Given the description of an element on the screen output the (x, y) to click on. 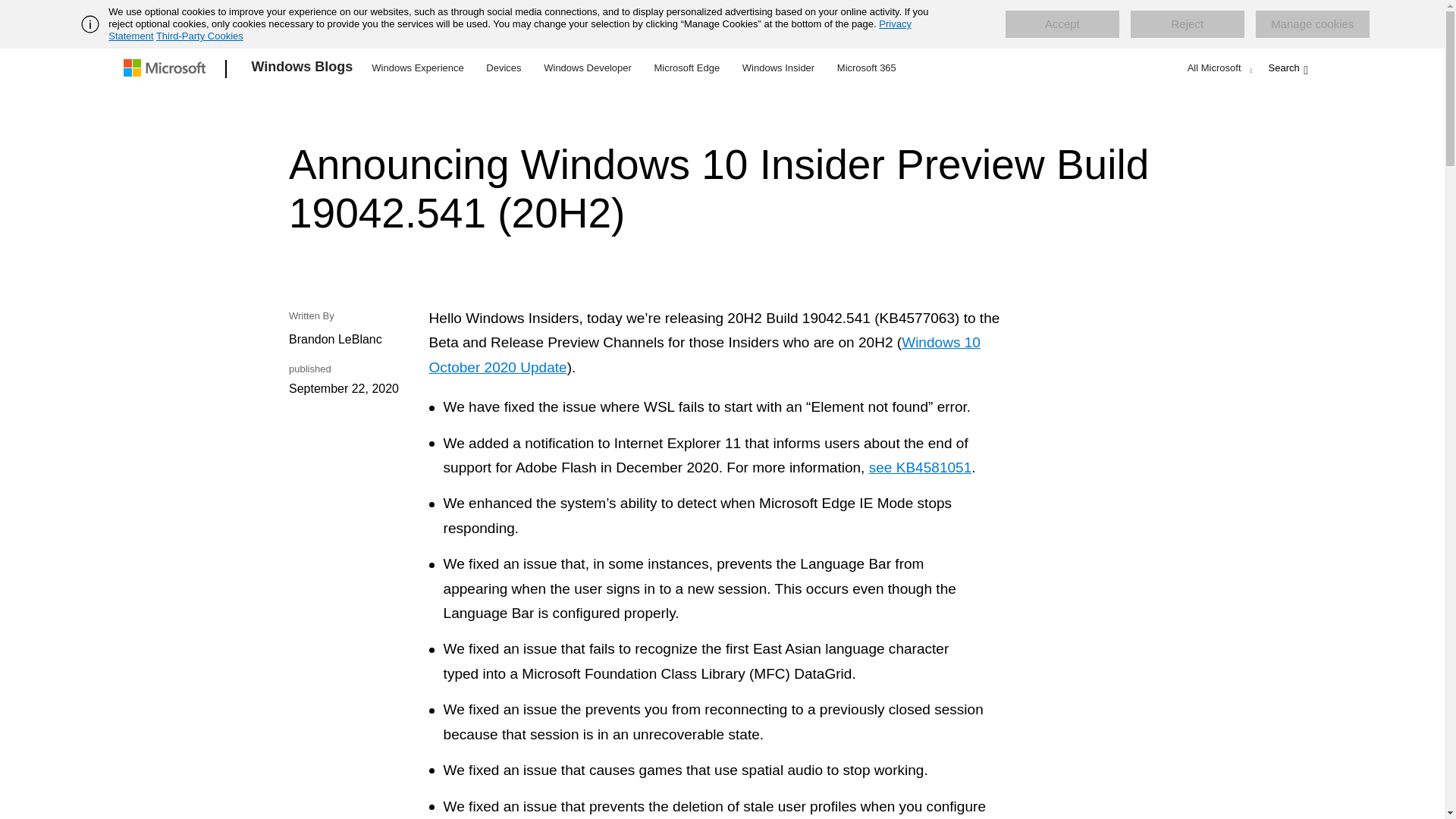
Manage cookies (1312, 23)
Accept (1062, 23)
Reject (1187, 23)
Windows Developer (588, 67)
Windows Experience (417, 67)
Windows Blogs (302, 69)
Microsoft 365 (865, 67)
Devices (503, 67)
Microsoft Edge (686, 67)
Microsoft (167, 69)
